Given the description of an element on the screen output the (x, y) to click on. 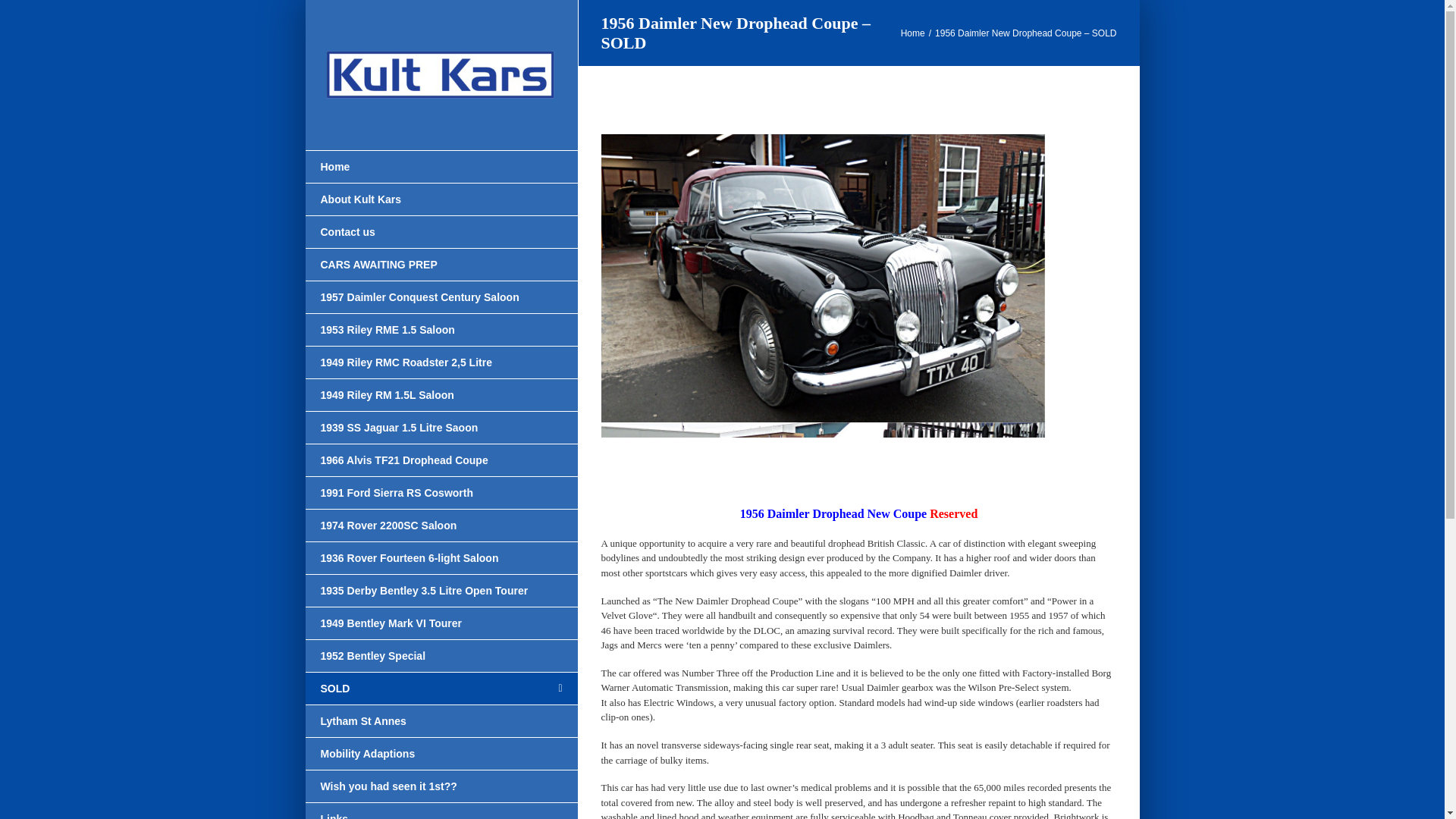
1939 SS Jaguar 1.5 Litre Saoon (440, 427)
1953 Riley RME 1.5 Saloon (440, 329)
1957 Daimler Conquest Century Saloon (440, 297)
1935 Derby Bentley 3.5 Litre Open Tourer (440, 590)
CARS AWAITING PREP (440, 264)
1936 Rover Fourteen 6-light Saloon (440, 558)
1991 Ford Sierra RS Cosworth (440, 492)
1949 Bentley Mark VI Tourer (440, 623)
About Kult Kars (440, 199)
Home (440, 166)
